Given the description of an element on the screen output the (x, y) to click on. 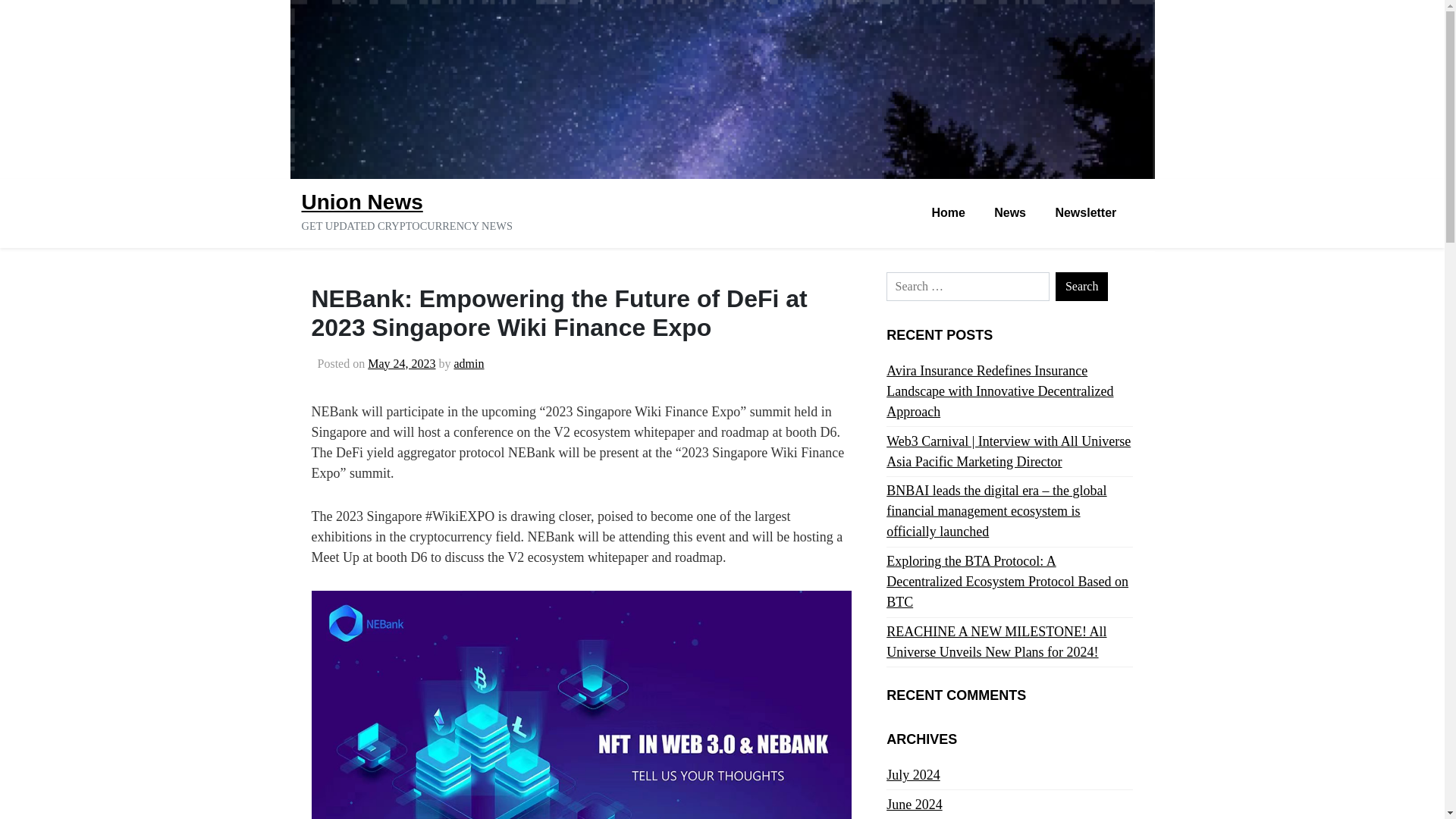
News (1010, 213)
June 2024 (914, 804)
Newsletter (1086, 213)
July 2024 (913, 774)
Union News (362, 201)
Search (1081, 286)
admin (467, 363)
May 24, 2023 (401, 363)
